Given the description of an element on the screen output the (x, y) to click on. 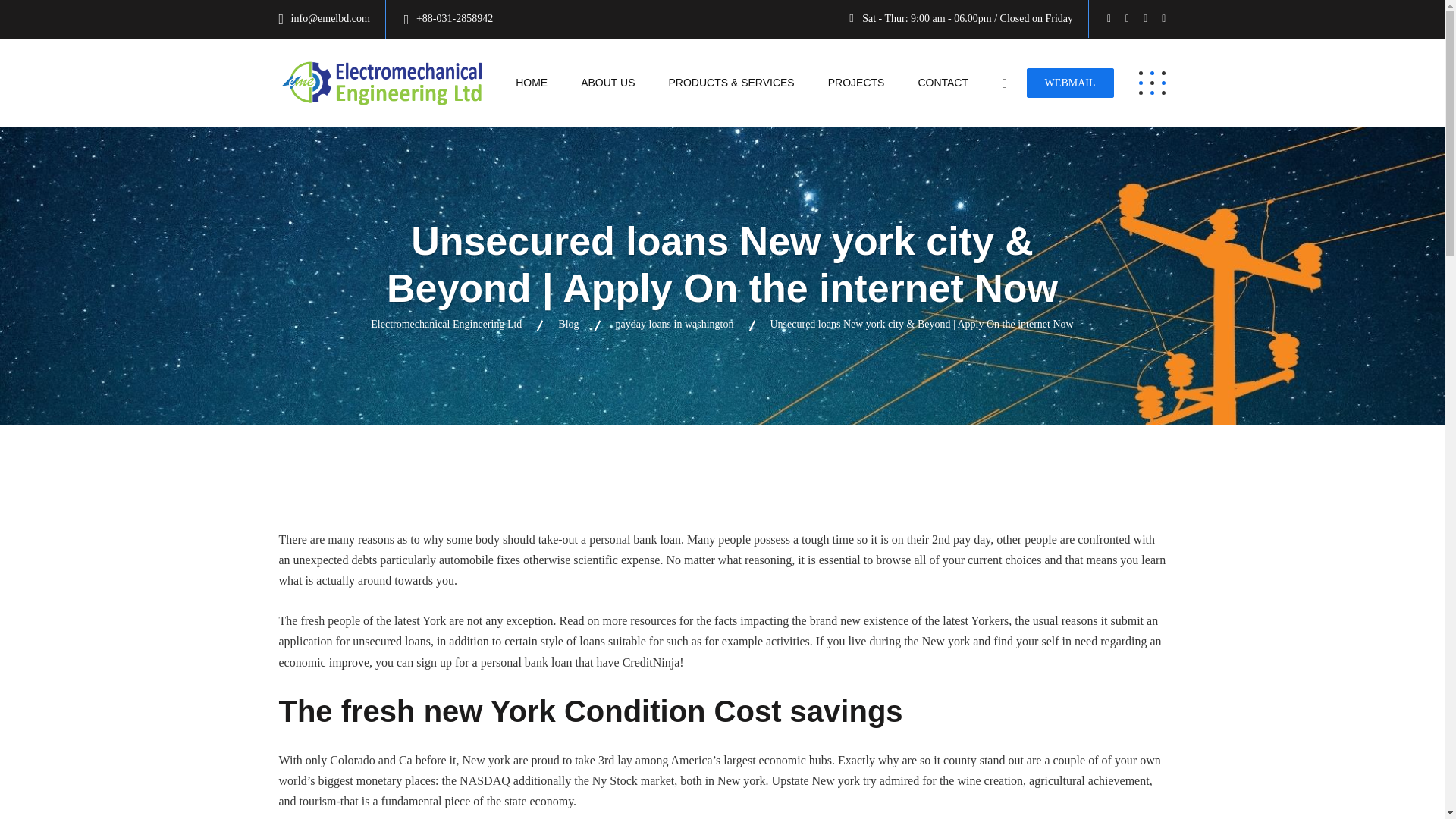
CONTACT (942, 83)
Go to Blog. (567, 324)
Go to Electromechanical Engineering Ltd. (446, 324)
ABOUT US (607, 83)
WEBMAIL (1069, 82)
HOME (531, 83)
PROJECTS (855, 83)
Go to the payday loans in washington Category archives. (674, 324)
